Given the description of an element on the screen output the (x, y) to click on. 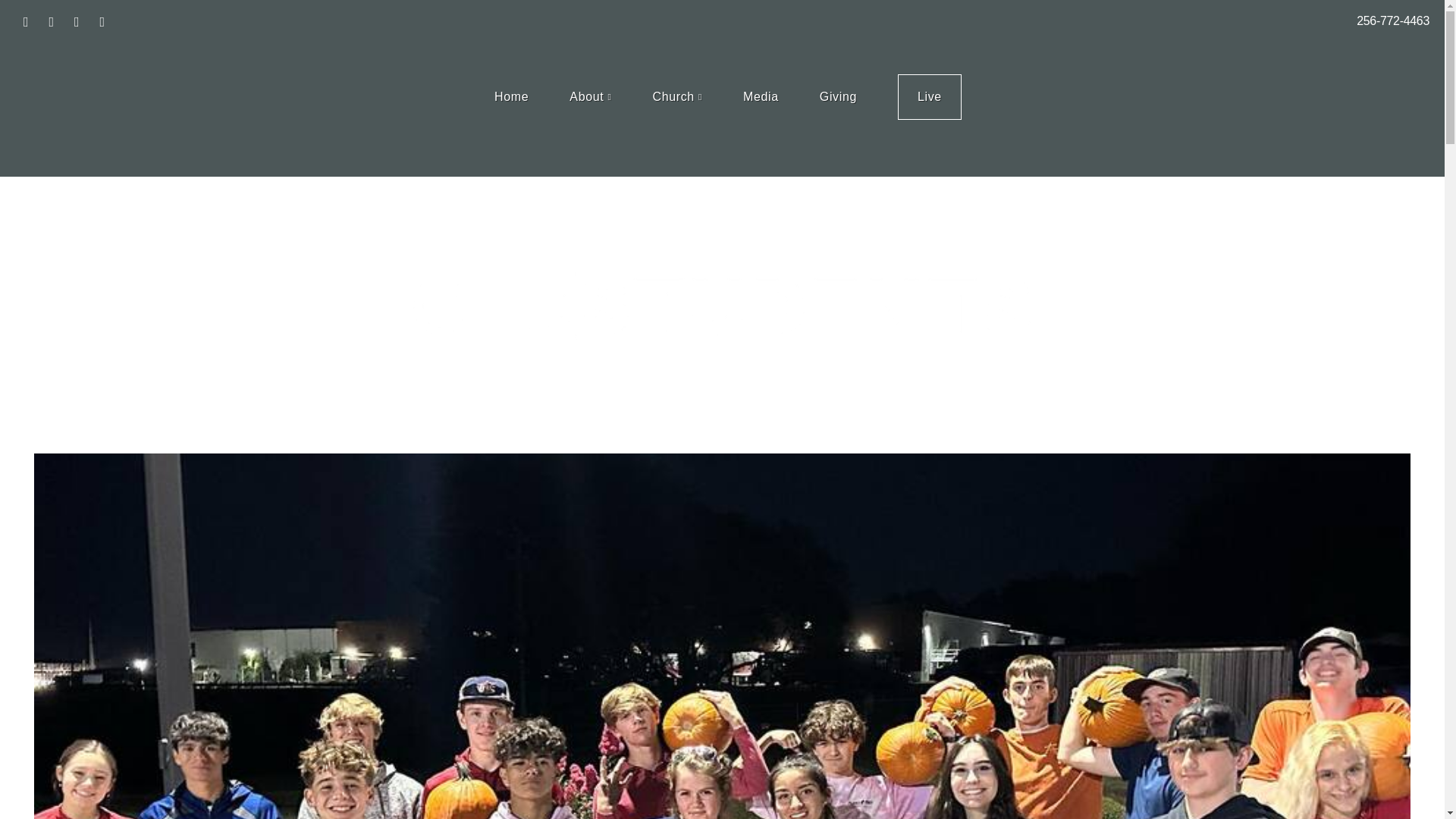
Giving (838, 96)
Home (511, 96)
Live (929, 96)
About  (590, 96)
Church  (676, 96)
Media (760, 96)
